Given the description of an element on the screen output the (x, y) to click on. 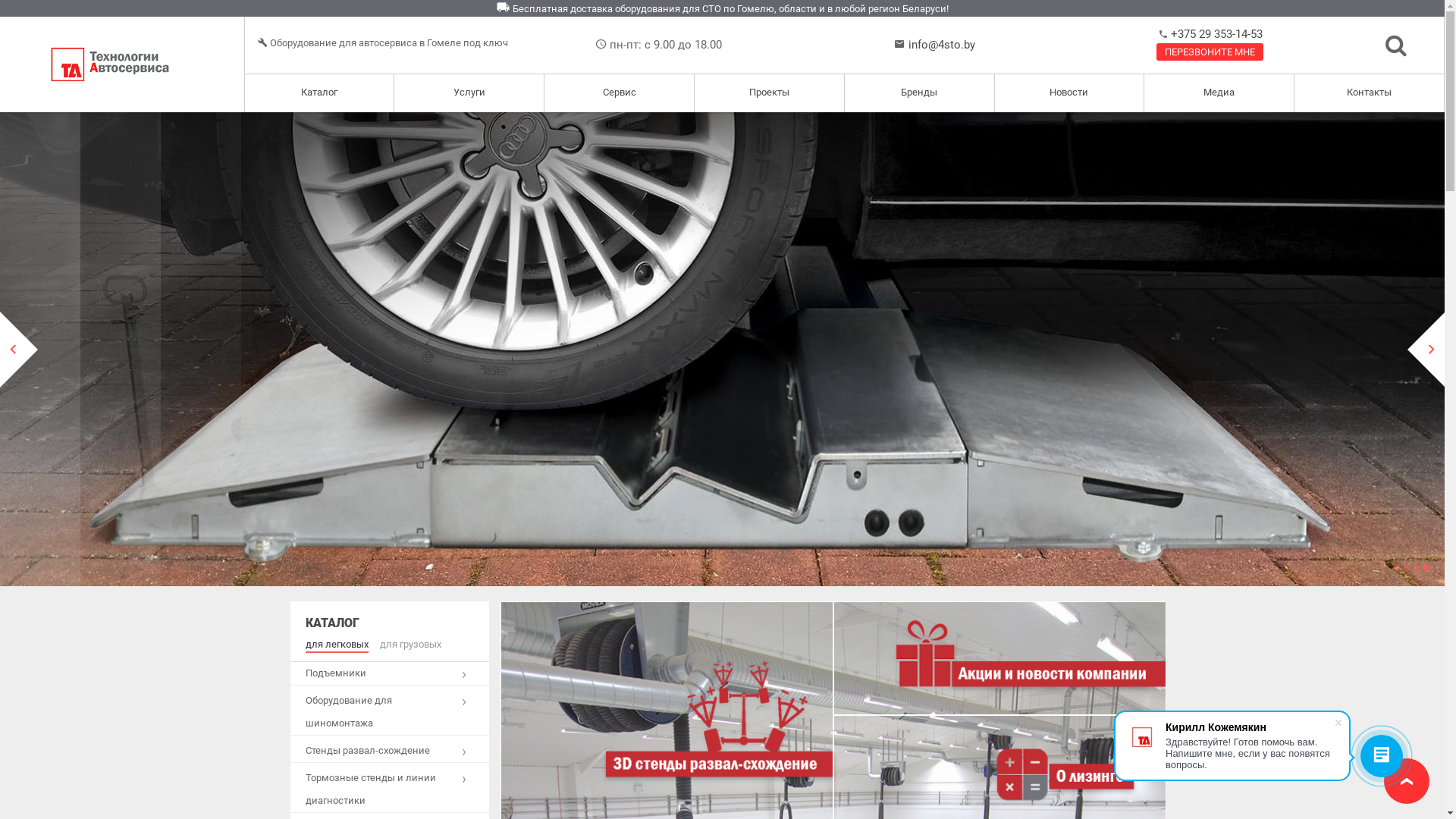
+375 29 353-14-53 Element type: text (1214, 33)
3 Element type: text (1416, 567)
4 Element type: text (1426, 567)
1 Element type: text (1396, 567)
2 Element type: text (1406, 567)
info@4sto.by Element type: text (941, 44)
